Given the description of an element on the screen output the (x, y) to click on. 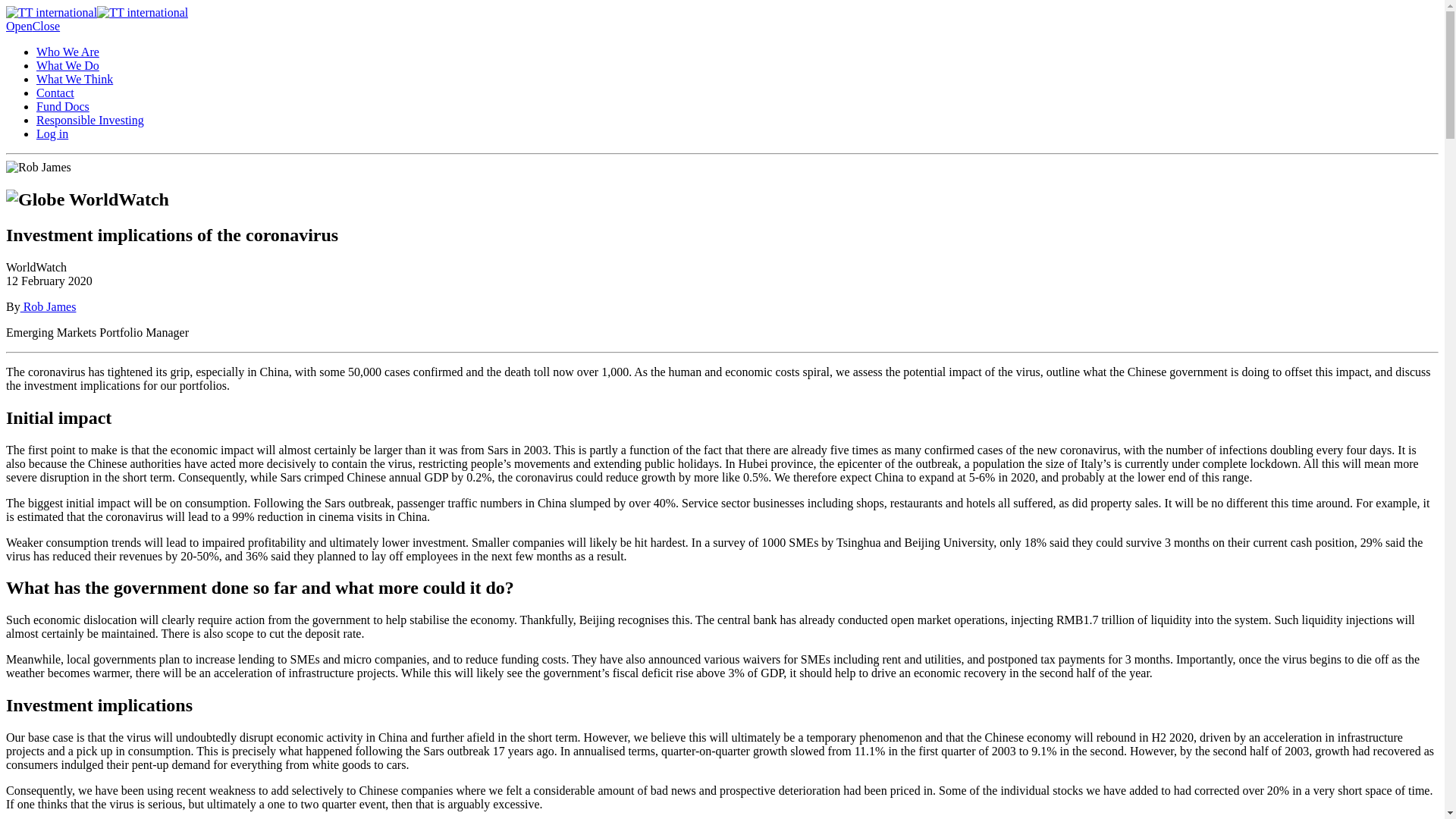
Close (45, 25)
Responsible Investing (90, 119)
What We Think (74, 78)
Contact (55, 92)
Open (18, 25)
Log in (52, 133)
What We Do (67, 65)
Rob James (48, 306)
Fund Docs (62, 106)
Who We Are (67, 51)
